Given the description of an element on the screen output the (x, y) to click on. 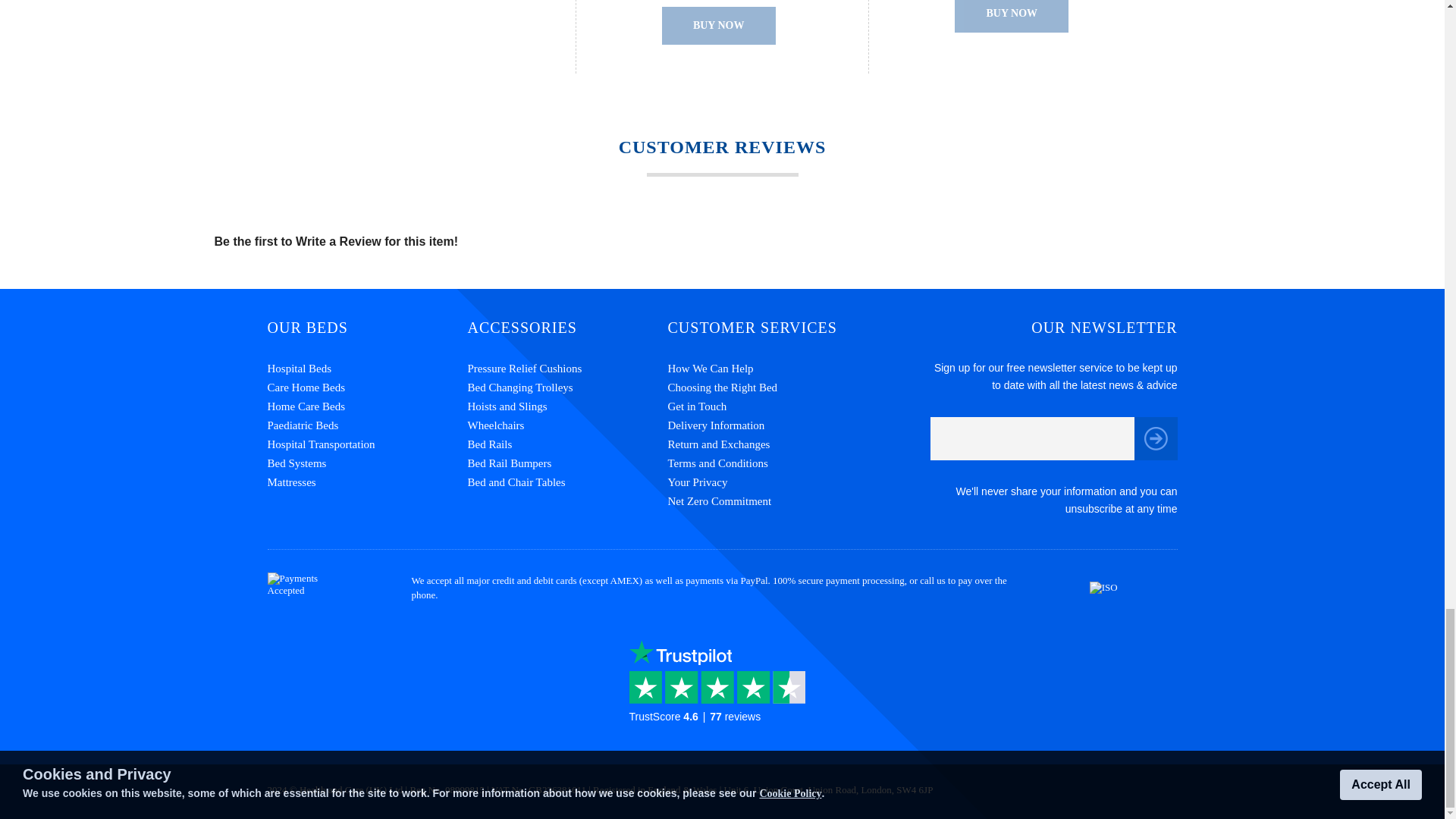
Customer reviews powered by Trustpilot (721, 694)
BUY NOW (719, 25)
Write a Review (338, 241)
Care Home Beds (366, 387)
Hospital Beds (366, 368)
Home Care Beds (366, 406)
Paediatric Beds (366, 425)
BUY NOW (1011, 16)
